Given the description of an element on the screen output the (x, y) to click on. 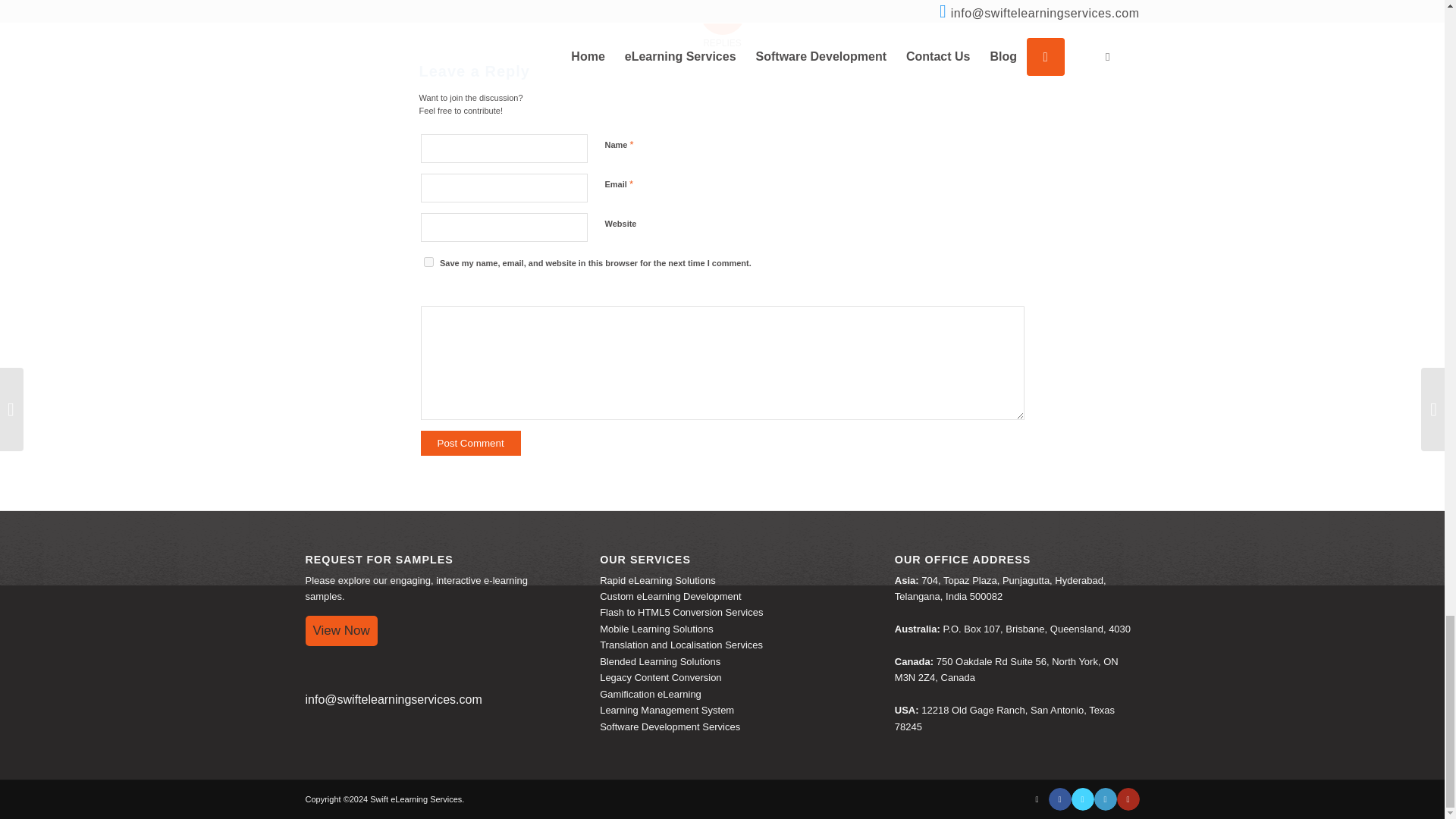
View Now (340, 630)
Facebook (1059, 798)
yes (427, 261)
Post Comment (469, 442)
Twitter (1081, 798)
Youtube (1127, 798)
LinkedIn (1104, 798)
WhatsApp (1036, 798)
